Given the description of an element on the screen output the (x, y) to click on. 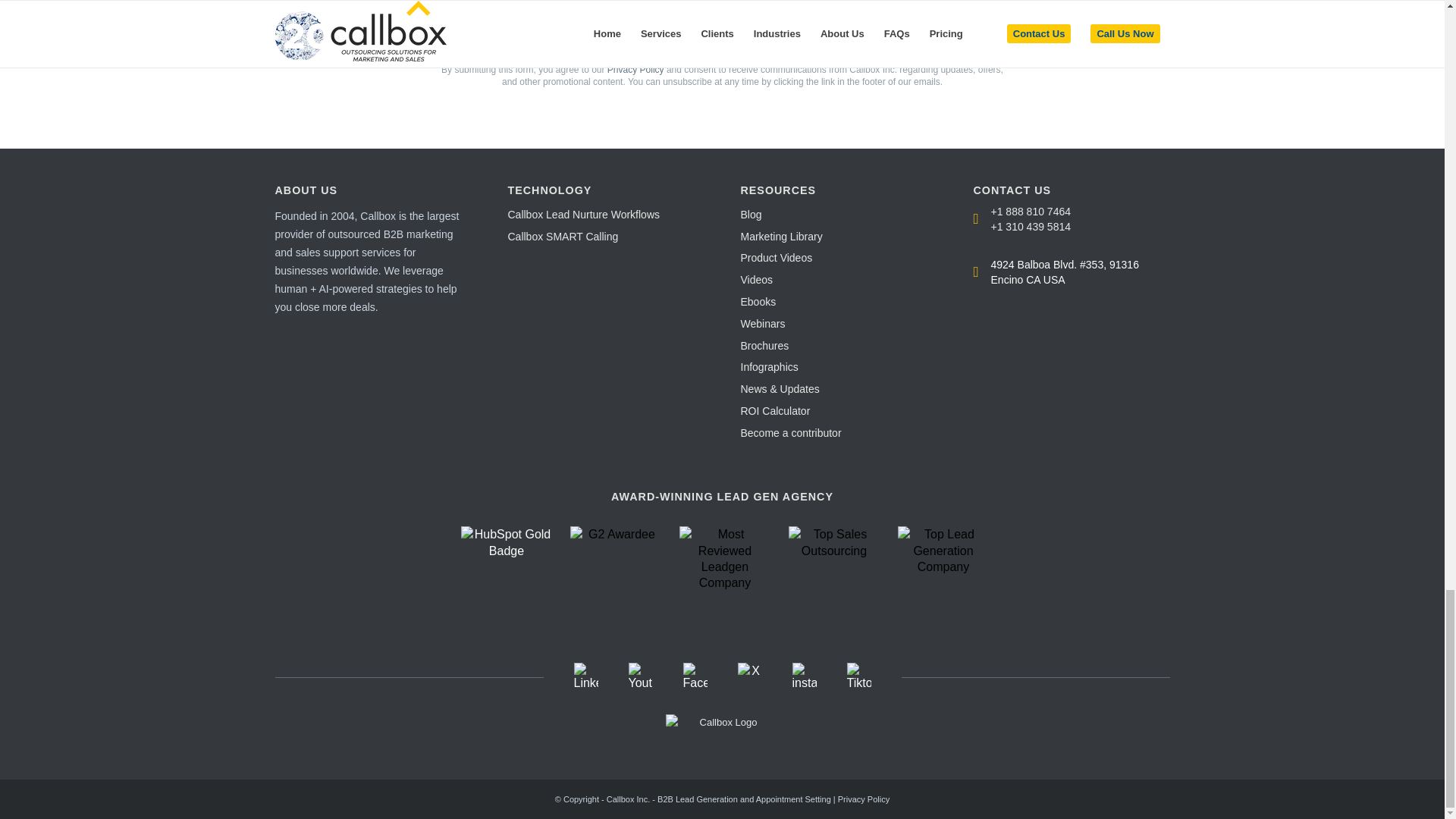
Linkedin (584, 682)
Youtube (639, 682)
Instagram (803, 682)
X (748, 670)
Facebook (694, 682)
Tiktok (857, 682)
